Given the description of an element on the screen output the (x, y) to click on. 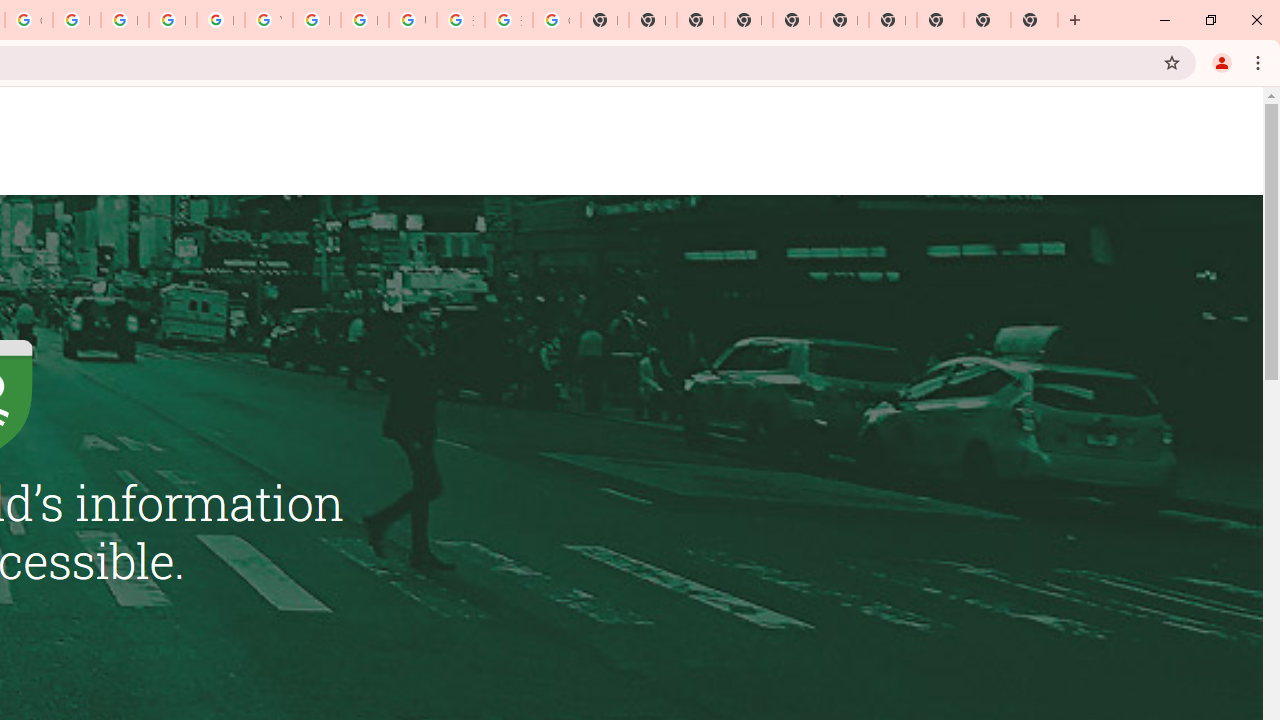
Privacy Help Center - Policies Help (76, 20)
Google Images (556, 20)
New Tab (748, 20)
YouTube (268, 20)
Privacy Help Center - Policies Help (124, 20)
New Tab (1034, 20)
